Given the description of an element on the screen output the (x, y) to click on. 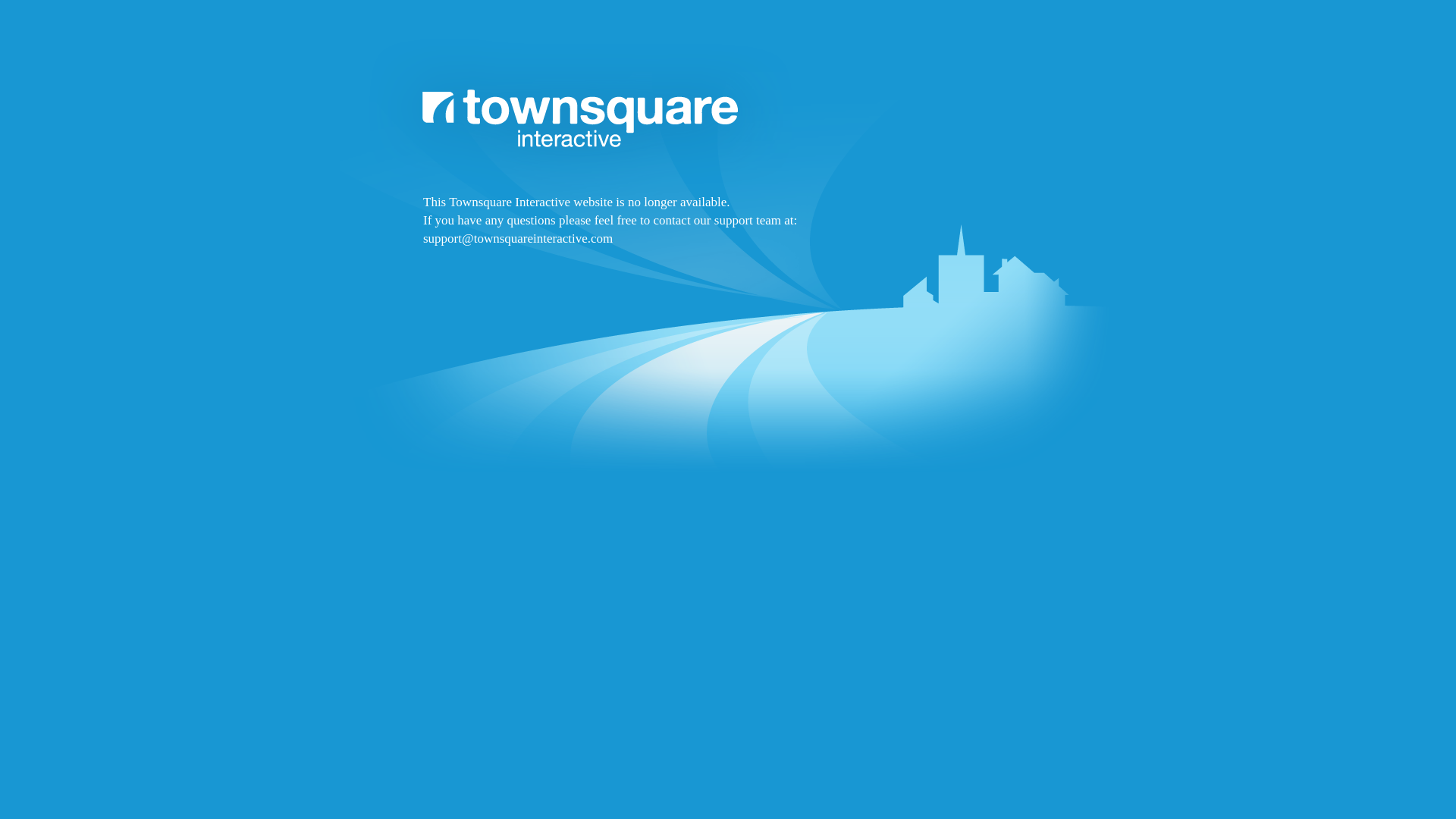
Townsquare Interactive Element type: hover (727, 297)
